Given the description of an element on the screen output the (x, y) to click on. 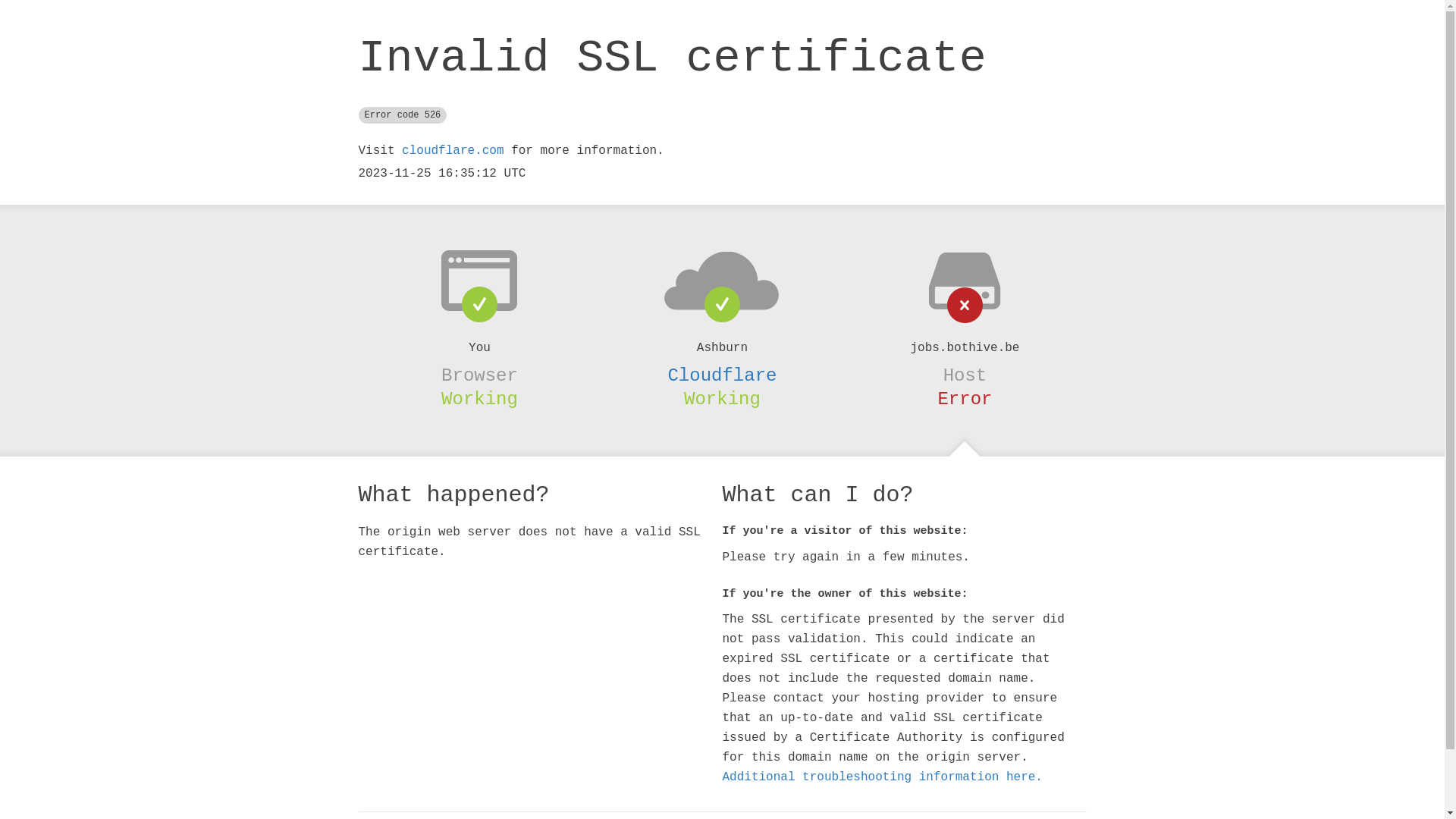
Cloudflare Element type: text (721, 375)
Additional troubleshooting information here. Element type: text (881, 777)
cloudflare.com Element type: text (452, 150)
